Given the description of an element on the screen output the (x, y) to click on. 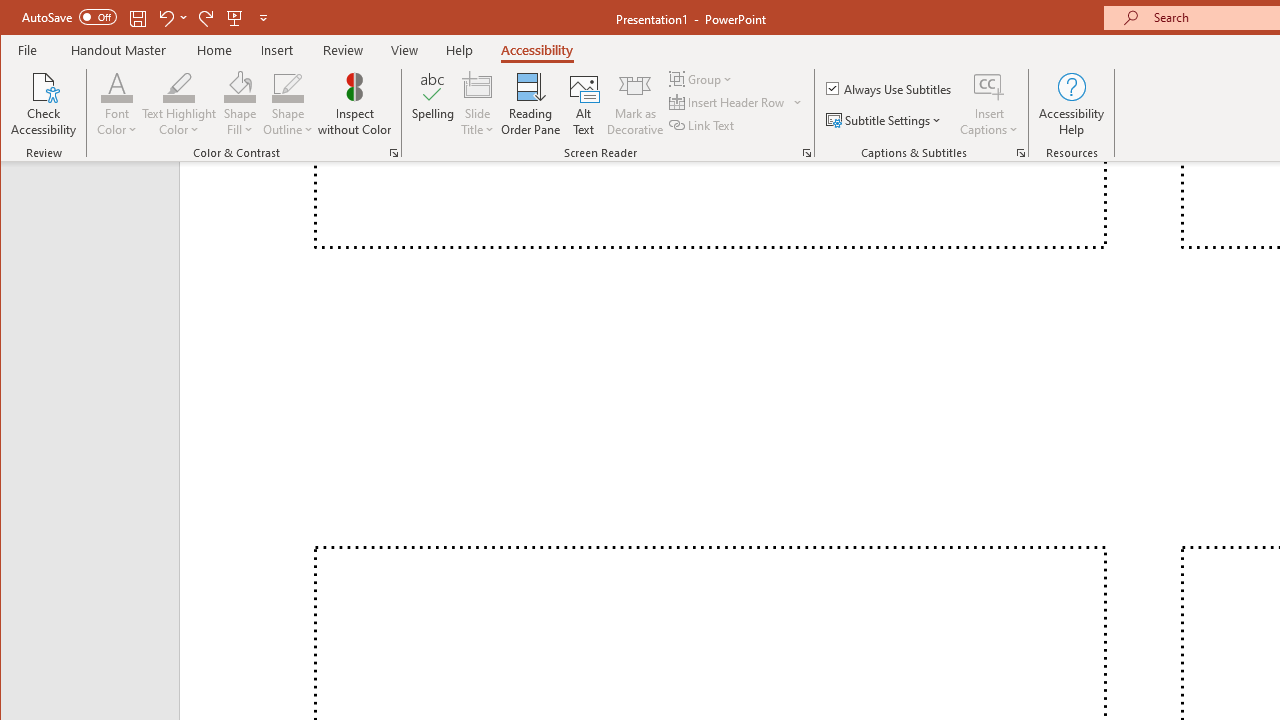
Font Color (116, 86)
Mark as Decorative (635, 104)
Always Use Subtitles (890, 88)
Inspect without Color (355, 104)
Reading Order Pane (531, 104)
Screen Reader (806, 152)
Text Highlight Color (178, 86)
Alt Text (584, 104)
Color & Contrast (393, 152)
Captions & Subtitles (1020, 152)
